Given the description of an element on the screen output the (x, y) to click on. 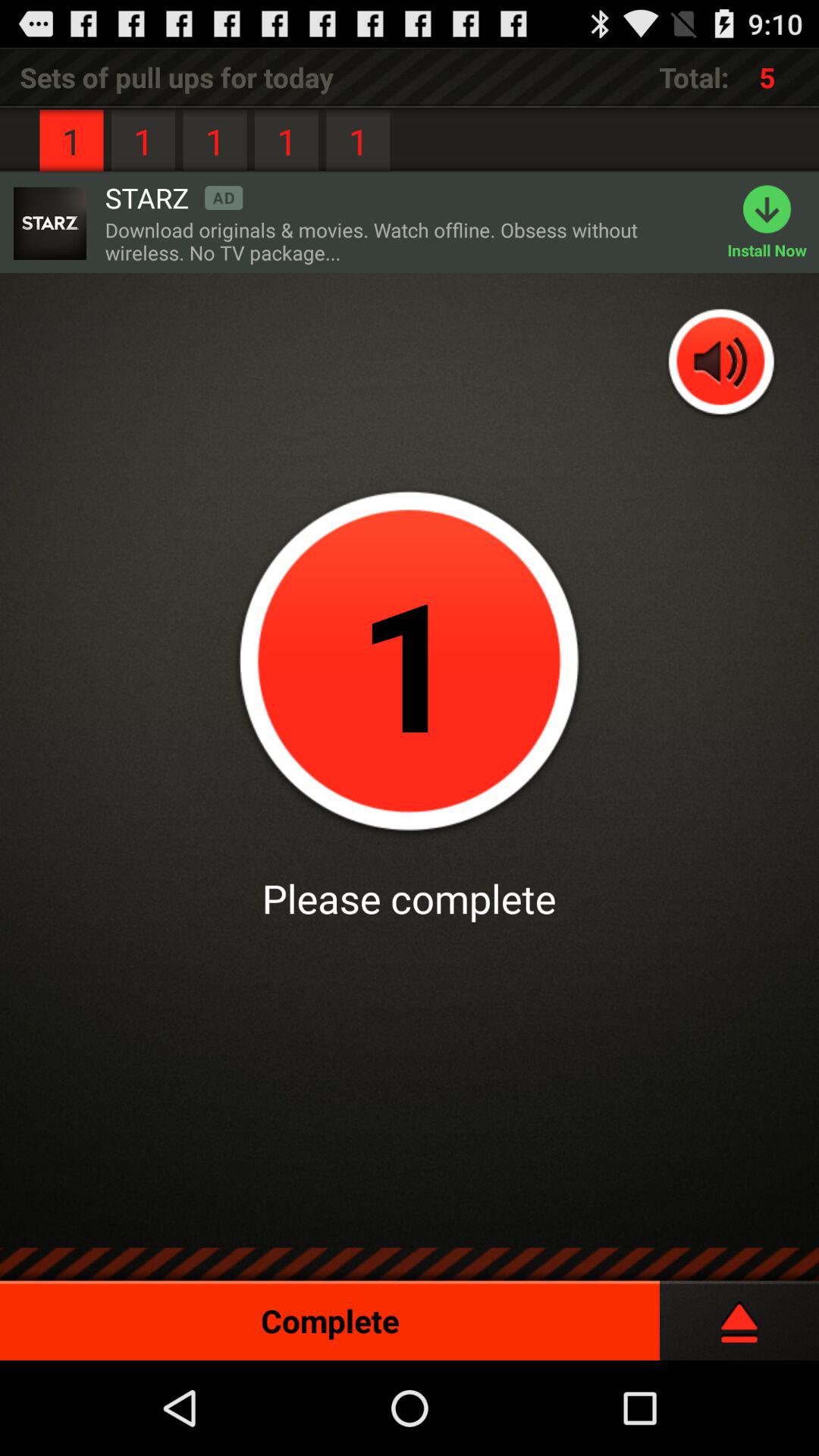
tap the item next to 1 icon (173, 197)
